Given the description of an element on the screen output the (x, y) to click on. 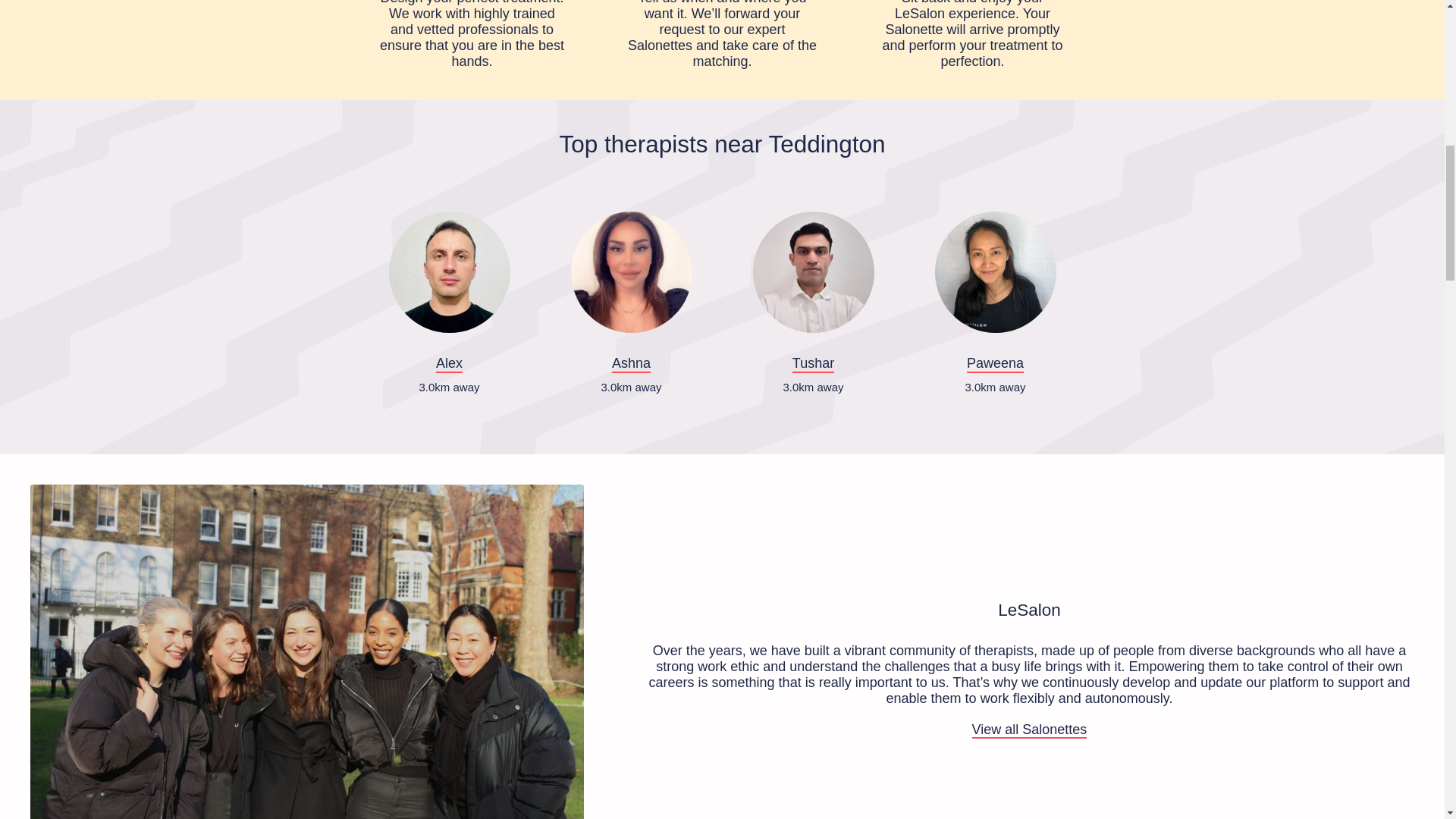
View all Salonettes (1029, 729)
